Given the description of an element on the screen output the (x, y) to click on. 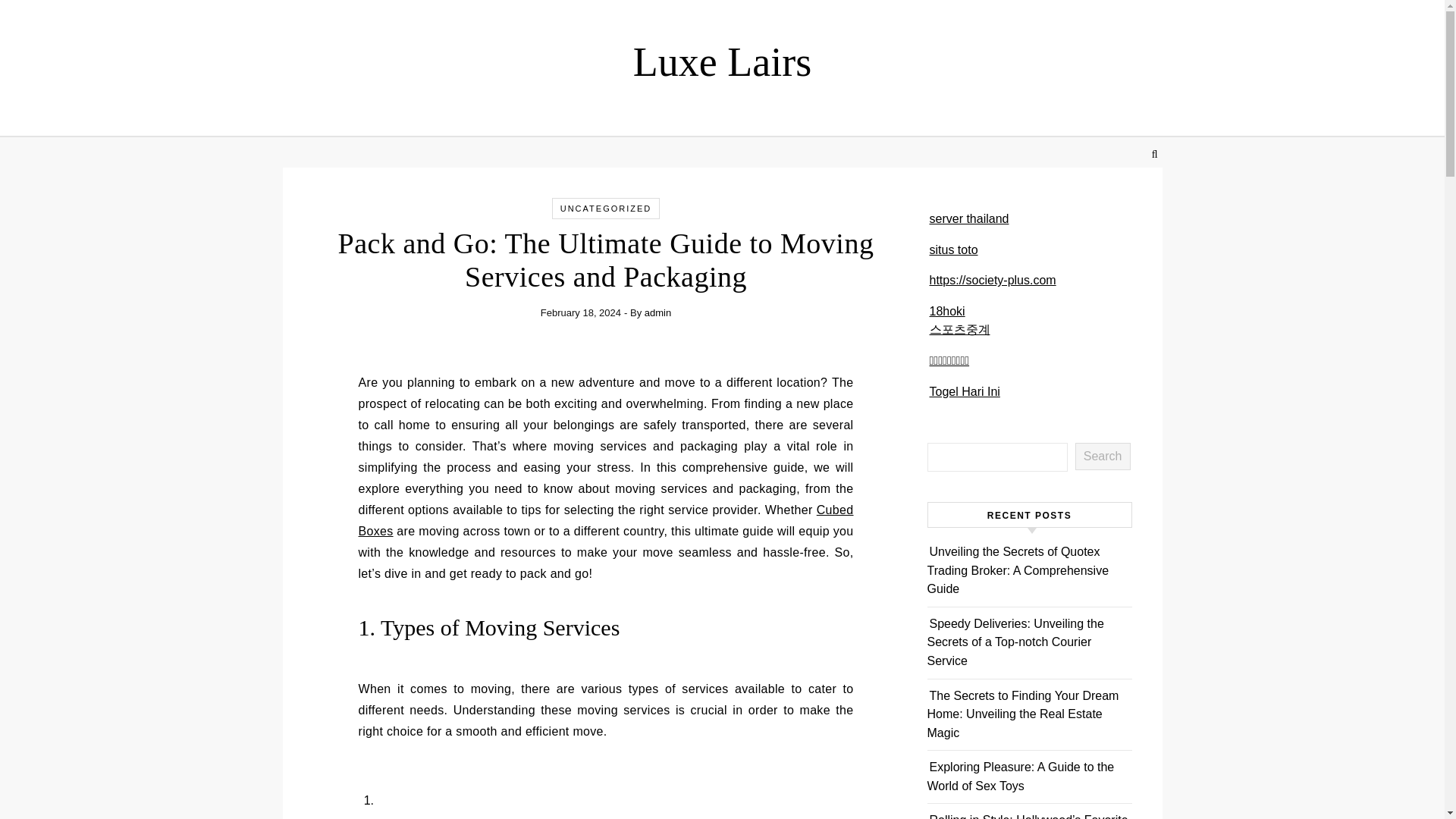
Exploring Pleasure: A Guide to the World of Sex Toys (1019, 776)
Luxe Lairs (721, 61)
Search (1103, 456)
Togel Hari Ini (965, 391)
18hoki (947, 310)
Posts by admin (658, 312)
server thailand (969, 218)
situs toto (954, 249)
UNCATEGORIZED (606, 207)
Cubed Boxes (605, 520)
admin (658, 312)
